Given the description of an element on the screen output the (x, y) to click on. 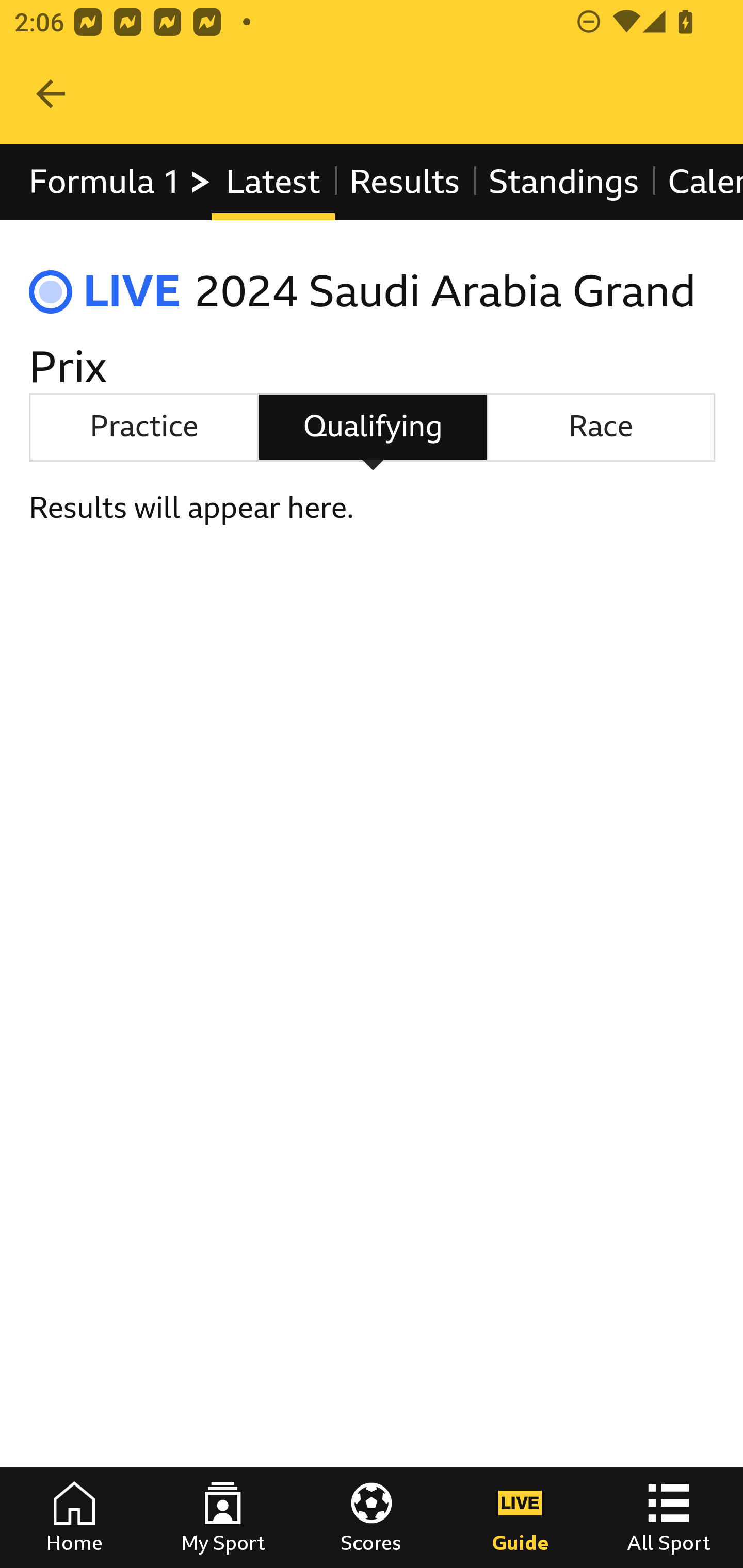
Navigate up (50, 93)
Formula 1  (120, 181)
Latest (272, 181)
Results (403, 181)
Standings (564, 181)
Practice (142, 426)
Qualifying (372, 426)
Race (600, 426)
Home (74, 1517)
My Sport (222, 1517)
Scores (371, 1517)
All Sport (668, 1517)
